Given the description of an element on the screen output the (x, y) to click on. 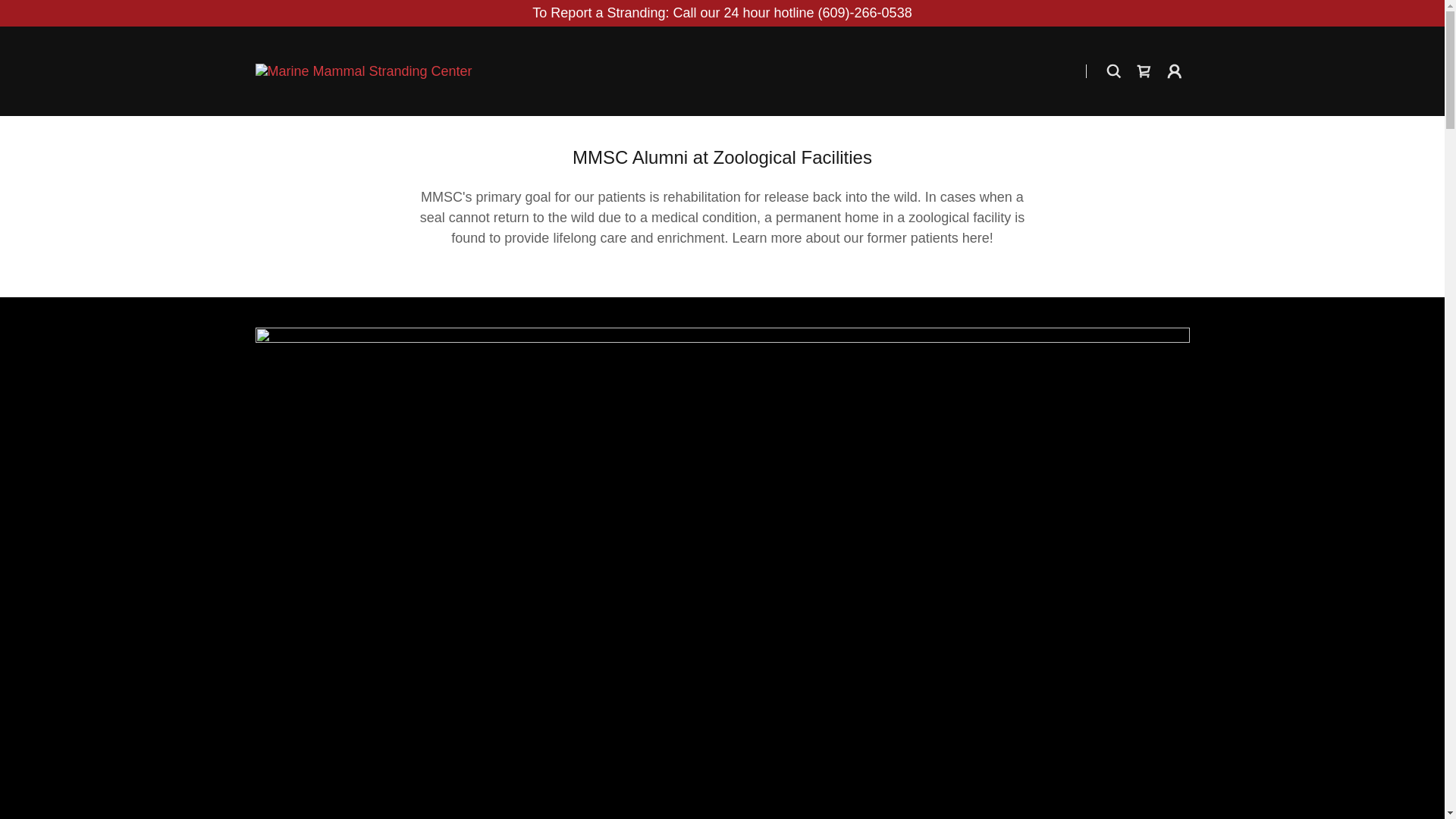
Marine Mammal Stranding Center (362, 70)
